Given the description of an element on the screen output the (x, y) to click on. 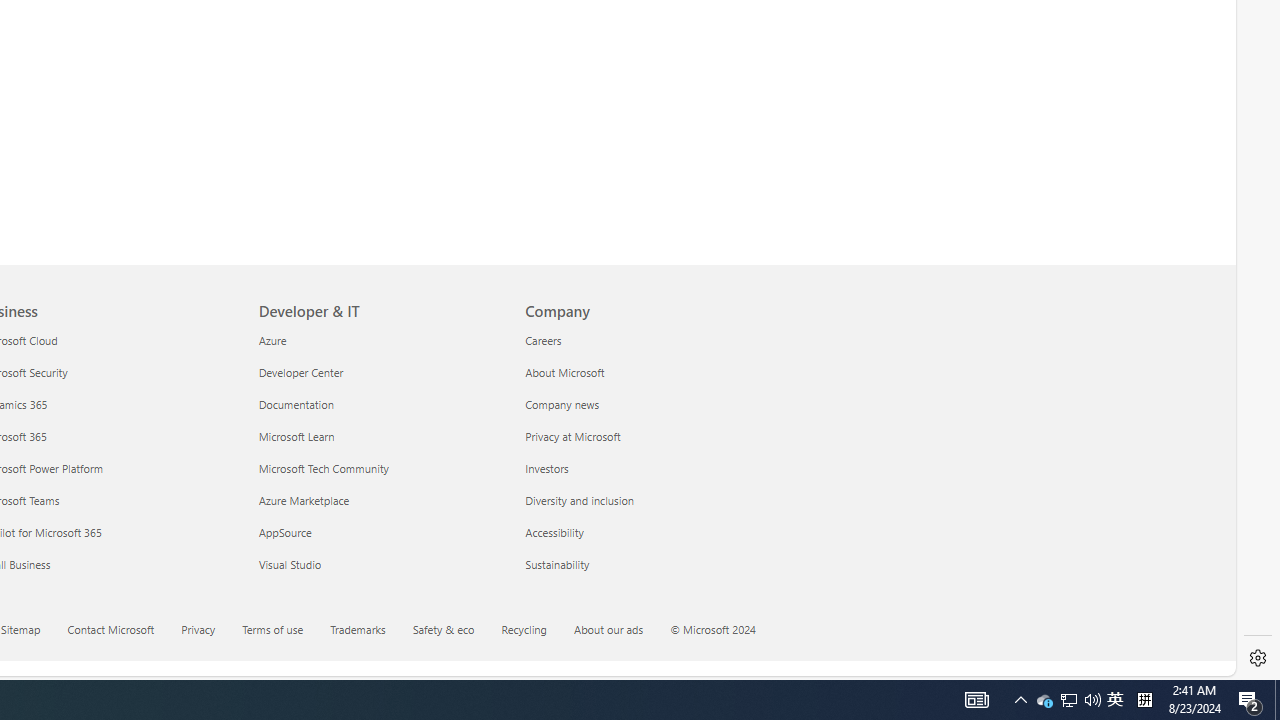
Microsoft Learn Developer & IT (296, 435)
Recycling (523, 628)
Documentation Developer & IT (296, 403)
Careers (646, 340)
AppSource Developer & IT (285, 532)
Microsoft Learn (379, 435)
Contact Microsoft (110, 628)
Azure Marketplace (379, 499)
Diversity and inclusion Company (579, 499)
Company news (646, 404)
Sitemap (32, 631)
Azure Developer & IT (272, 339)
Documentation (379, 404)
Azure (379, 340)
